Given the description of an element on the screen output the (x, y) to click on. 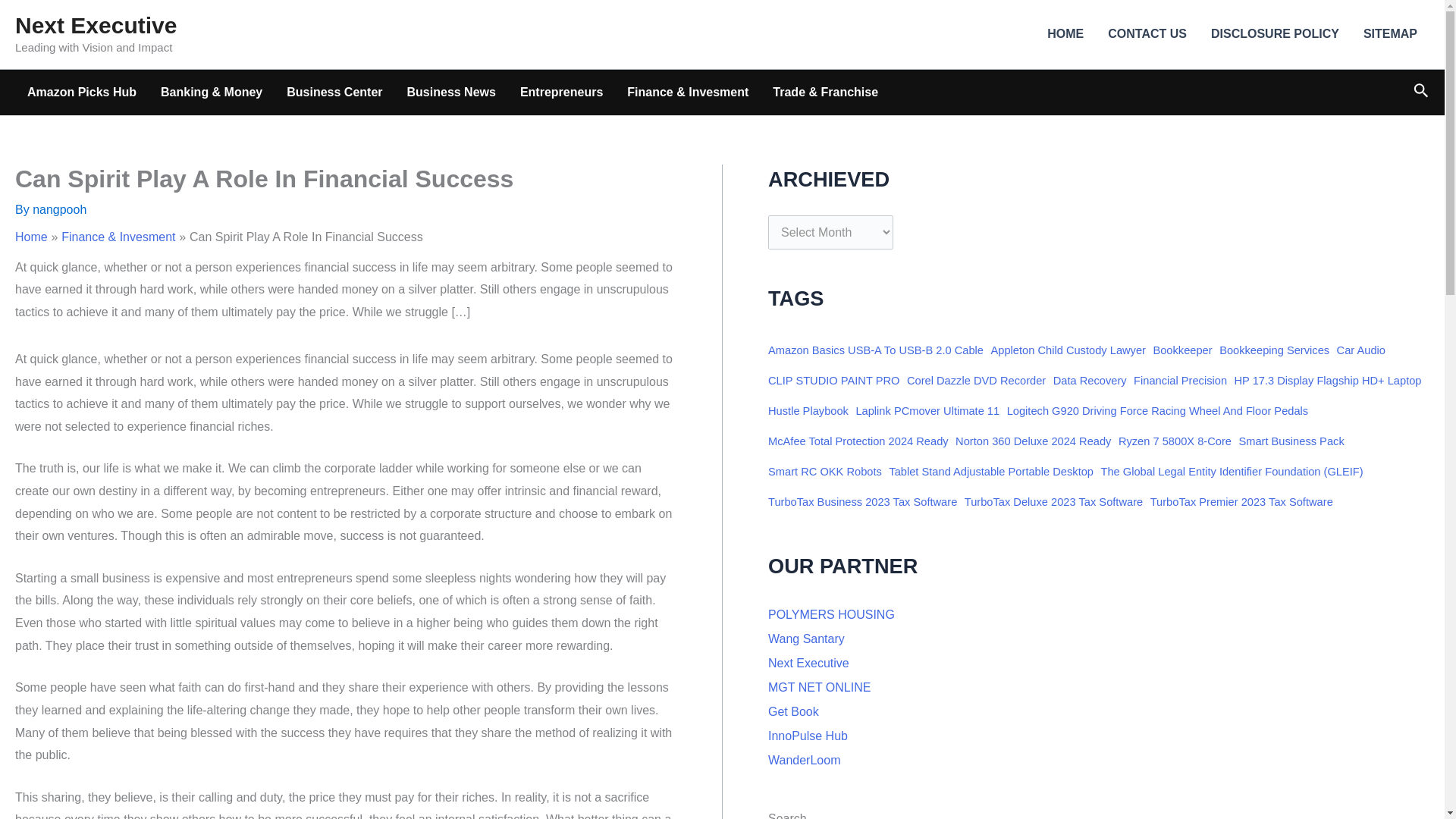
Entrepreneurs (561, 92)
CONTACT US (1147, 34)
HOME (1065, 34)
Amazon Picks Hub (81, 92)
Business News (451, 92)
View all posts by nangpooh (58, 209)
SITEMAP (1390, 34)
nangpooh (58, 209)
Business Center (334, 92)
Next Executive (95, 25)
